Given the description of an element on the screen output the (x, y) to click on. 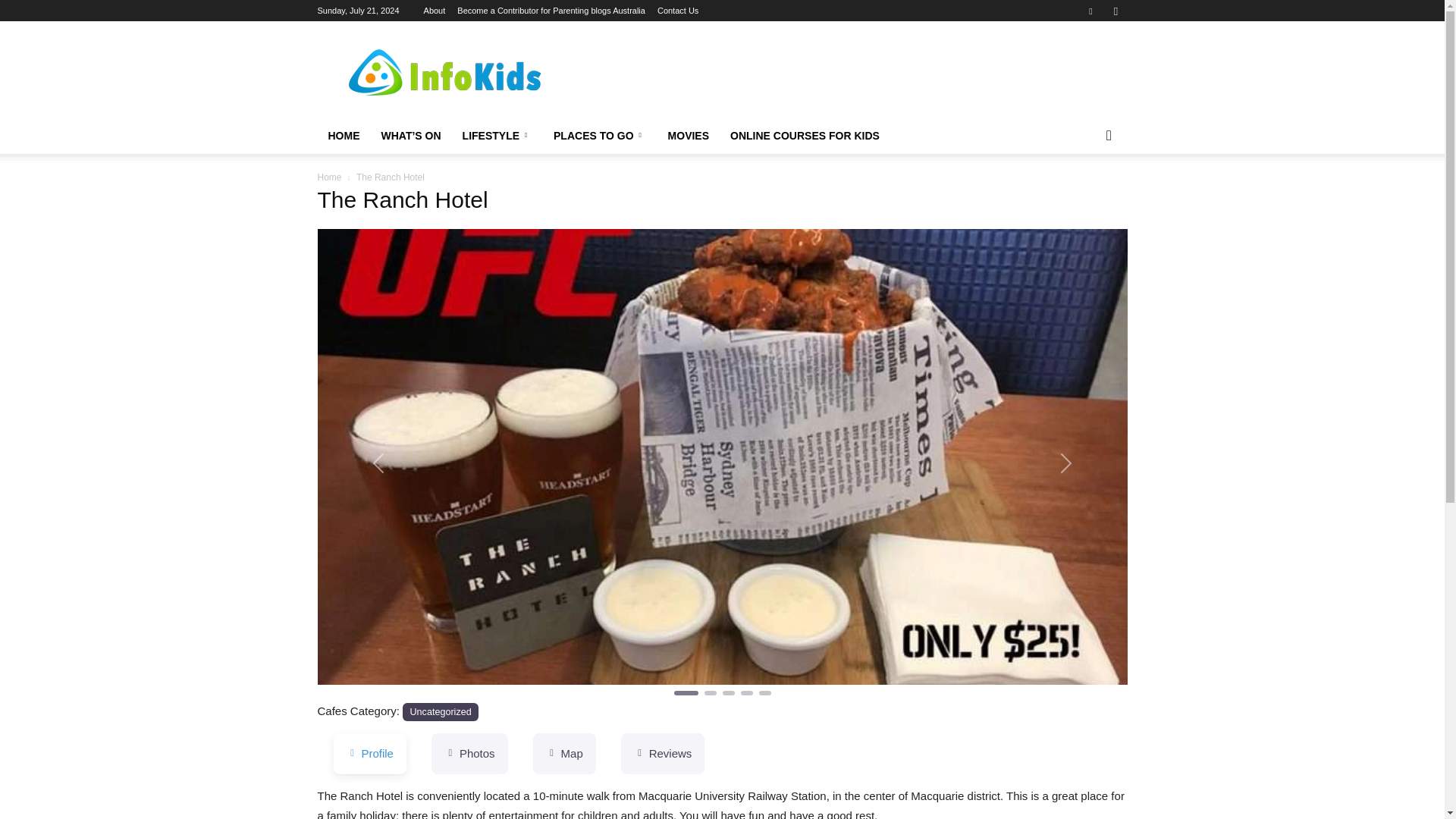
Contact Us (678, 10)
Reviews (662, 753)
LIFESTYLE (497, 135)
Facebook (1090, 10)
HOME (343, 135)
Photos (469, 753)
Become a Contributor for Parenting blogs Australia (551, 10)
Instagram (1114, 10)
Online Courses for Kids (804, 135)
Profile (369, 753)
About (434, 10)
Map (563, 753)
